Given the description of an element on the screen output the (x, y) to click on. 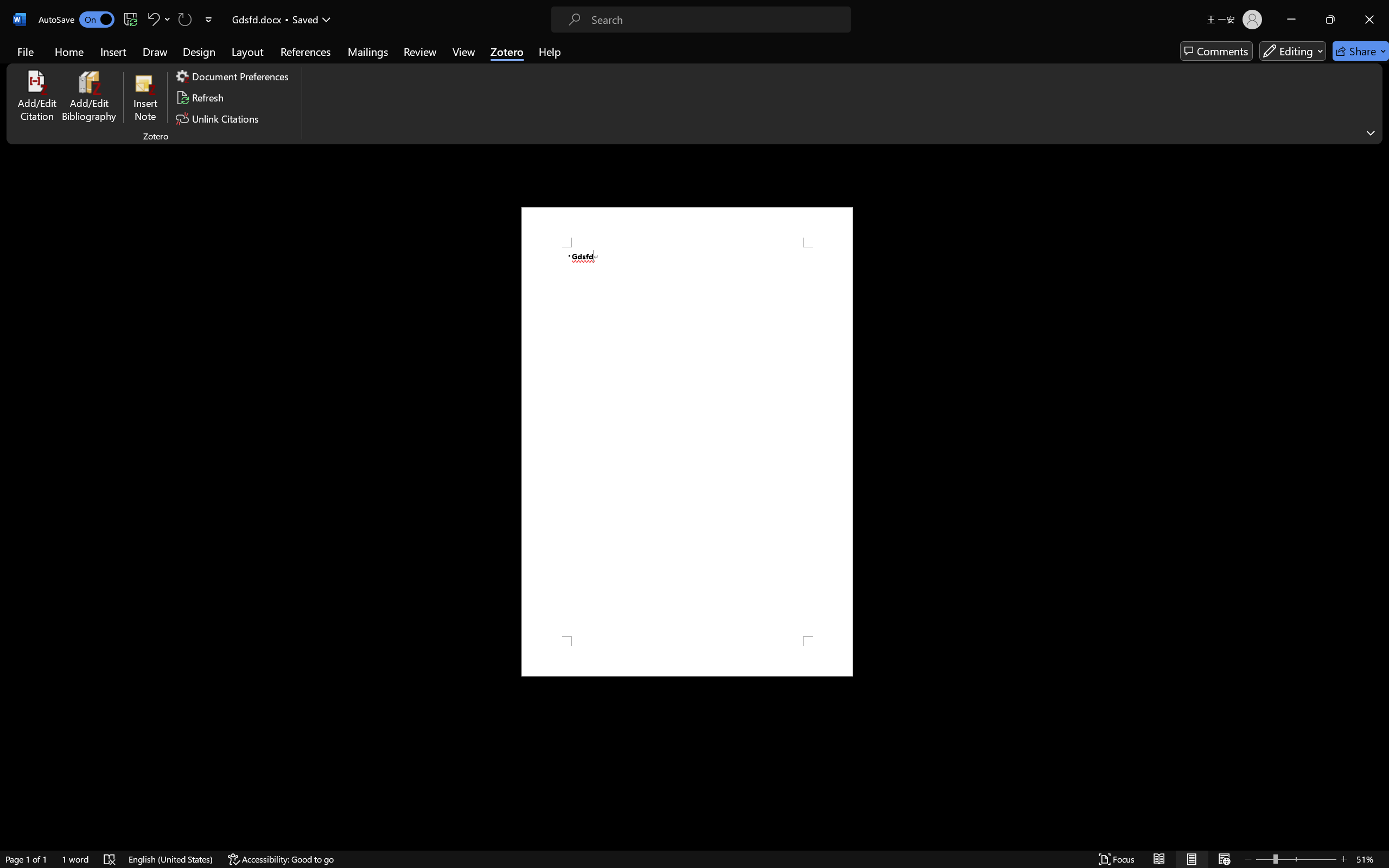
Designer (843, 62)
Vertical Text Box (528, 48)
Find... (722, 46)
Paragraph... (502, 91)
Shape Fill (662, 46)
Translator (1377, 132)
Increase Indent (393, 52)
Arrow: Right (562, 60)
Oval (572, 48)
Additional Information (1297, 498)
Isosceles Triangle (528, 60)
Layout (137, 47)
